Given the description of an element on the screen output the (x, y) to click on. 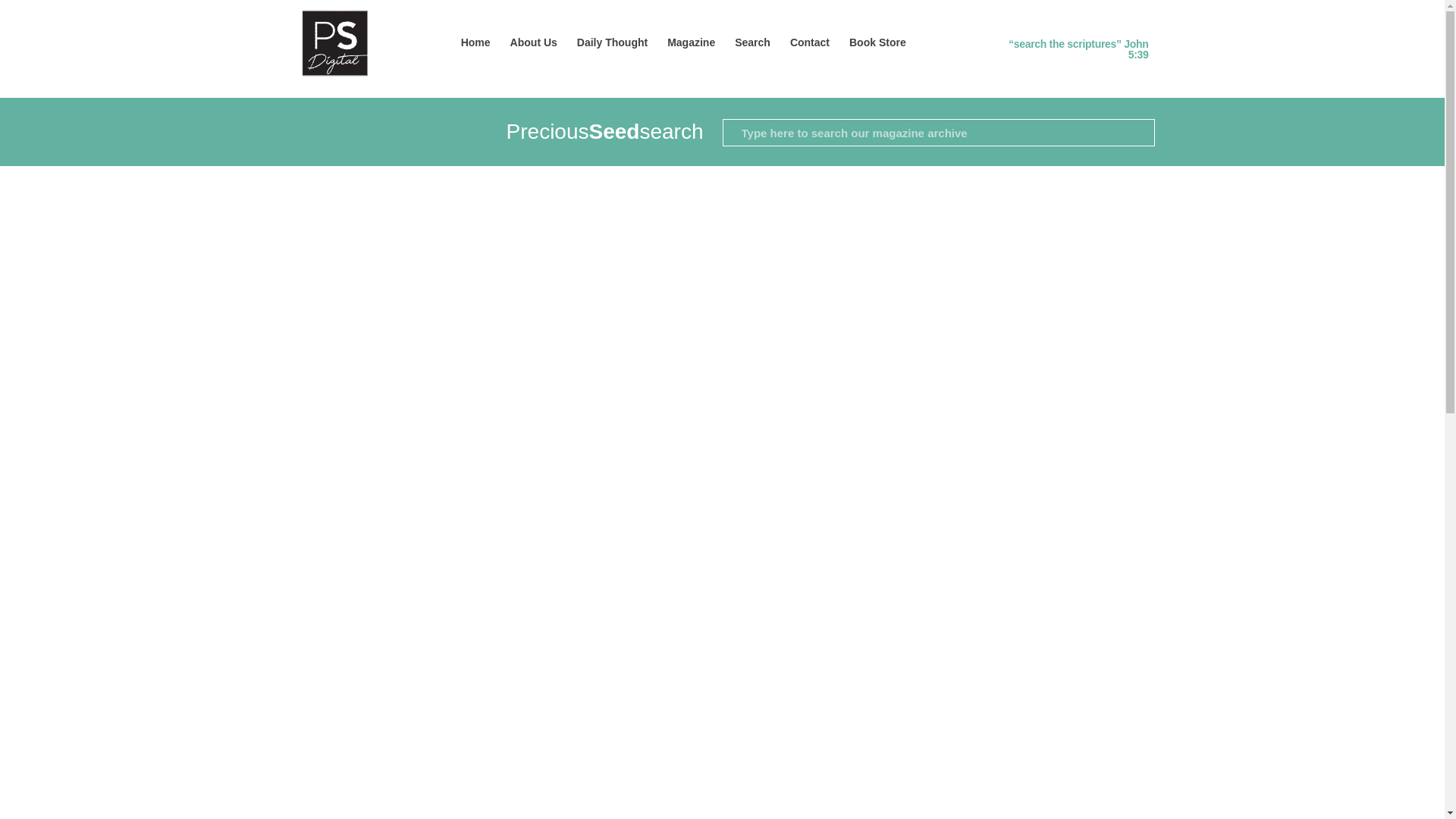
Magazine (691, 42)
About Us (533, 42)
Contact (810, 42)
Daily Thought (612, 42)
Book Store (877, 42)
Home (475, 42)
Search (752, 42)
